Given the description of an element on the screen output the (x, y) to click on. 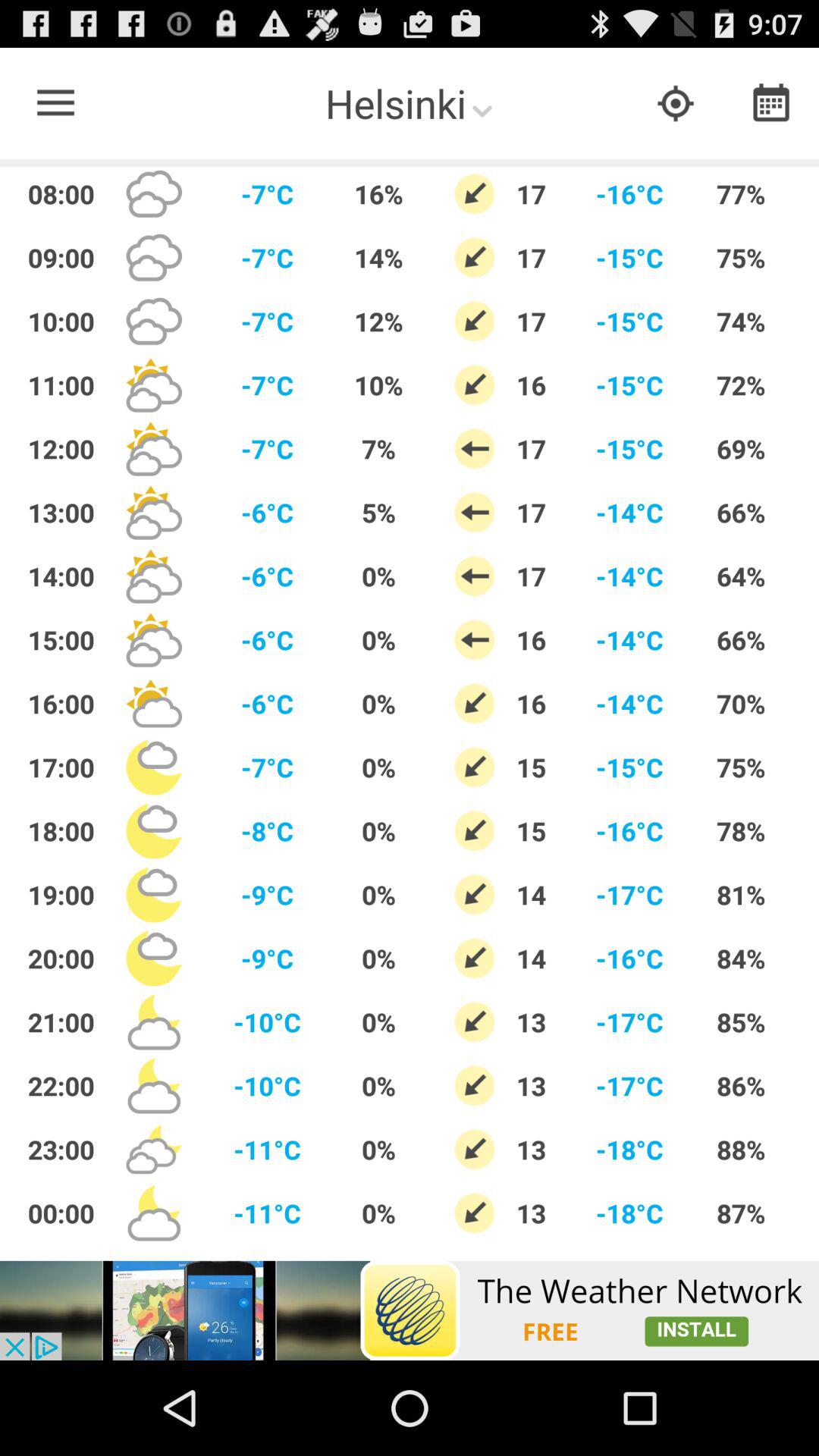
advertisement promotion (409, 1310)
